Given the description of an element on the screen output the (x, y) to click on. 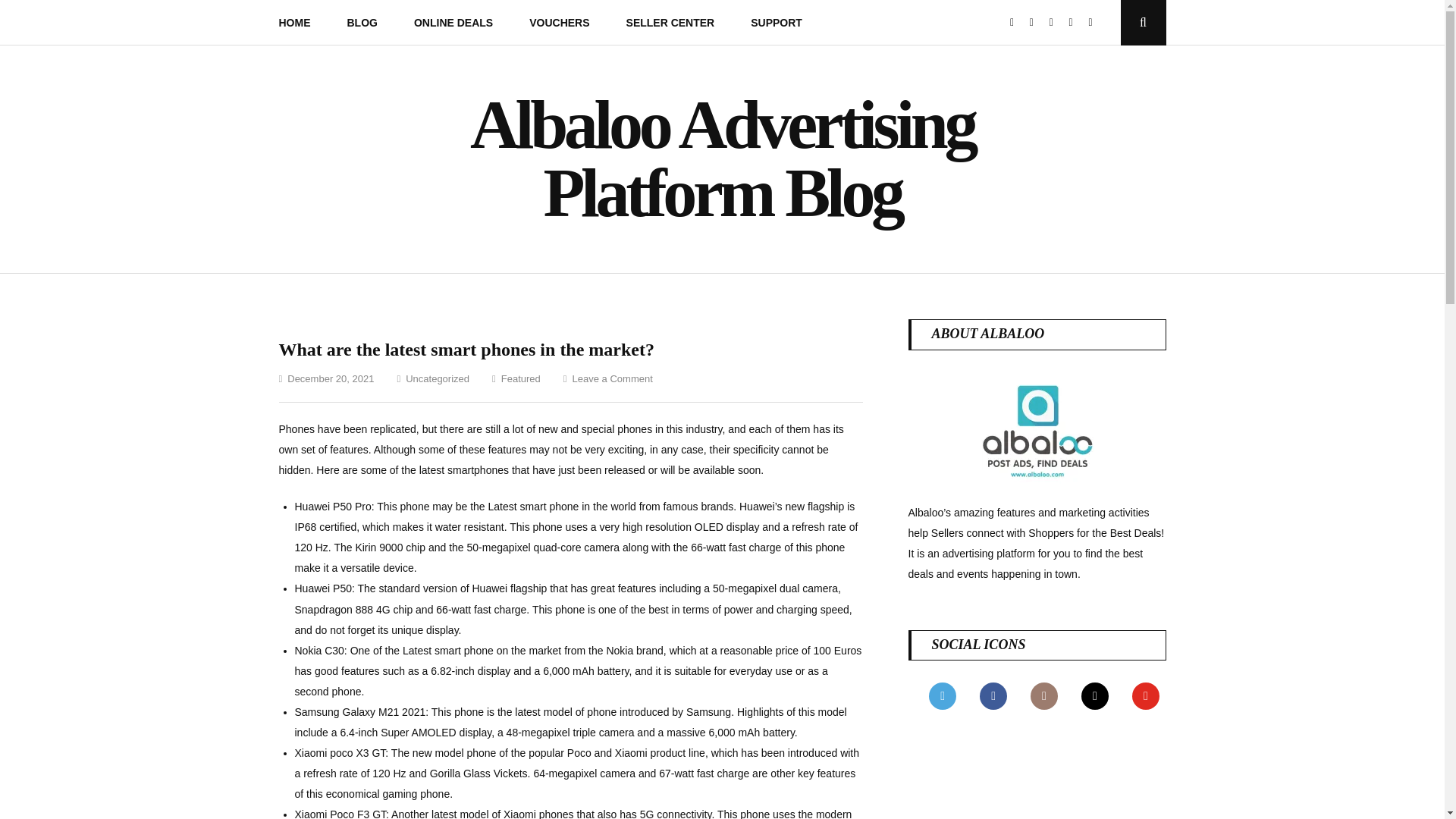
Instagram (1037, 22)
HOME (294, 22)
Email (1057, 22)
BLOG (362, 22)
VOUCHERS (559, 22)
December 20, 2021 (330, 378)
SUPPORT (776, 22)
Albaloo Instagram  (1037, 22)
Albaloo Advertising Platform Blog (722, 158)
